Given the description of an element on the screen output the (x, y) to click on. 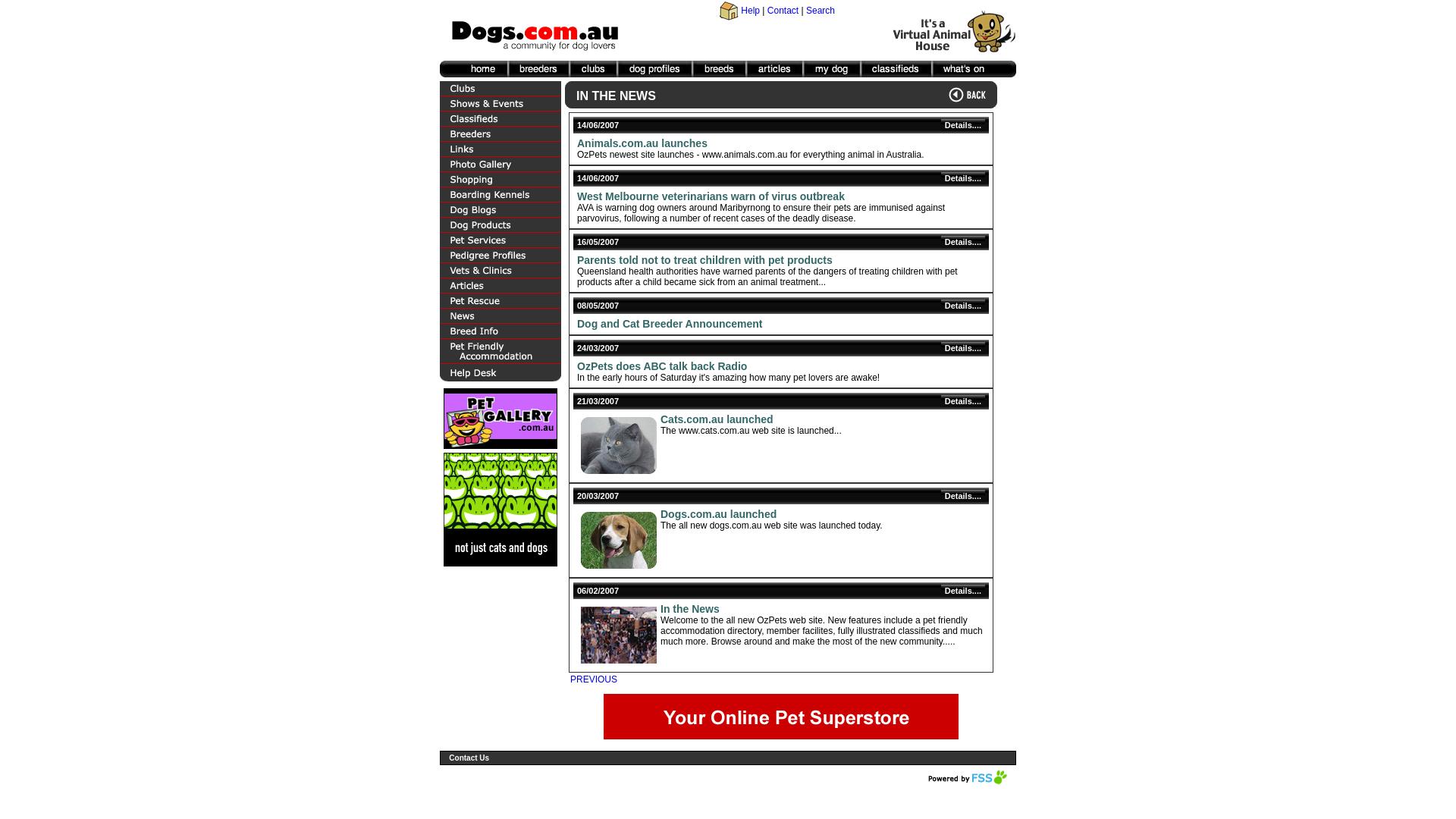
Details.... Element type: text (963, 241)
Contact Us Element type: text (468, 757)
Details.... Element type: text (963, 178)
Details.... Element type: text (963, 125)
Details.... Element type: text (963, 348)
Details.... Element type: text (963, 305)
Search Element type: text (820, 10)
Contact Element type: text (782, 10)
PREVIOUS Element type: text (593, 679)
Help Element type: text (749, 10)
Details.... Element type: text (963, 401)
Details.... Element type: text (963, 590)
Details.... Element type: text (963, 495)
